Given the description of an element on the screen output the (x, y) to click on. 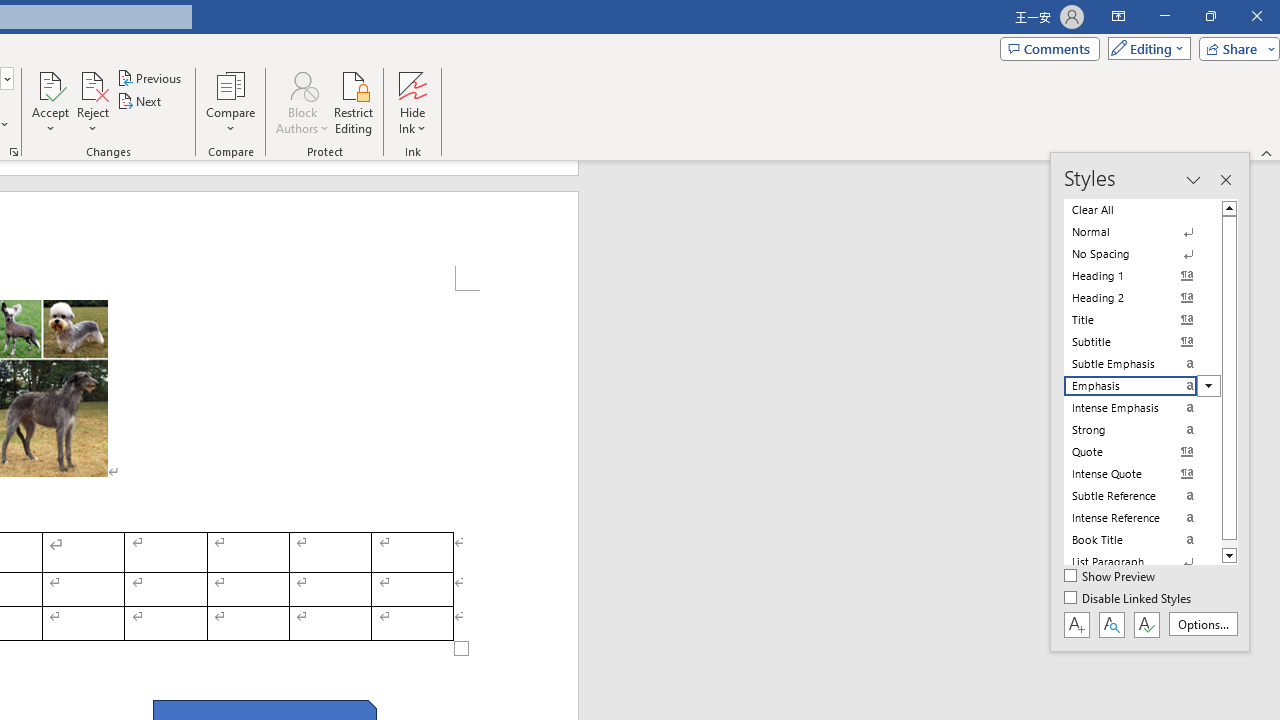
Disable Linked Styles (1129, 599)
Change Tracking Options... (13, 151)
Book Title (1142, 539)
Strong (1142, 429)
Heading 2 (1142, 297)
Reject and Move to Next (92, 84)
Hide Ink (412, 102)
Block Authors (302, 84)
Intense Emphasis (1142, 407)
